Given the description of an element on the screen output the (x, y) to click on. 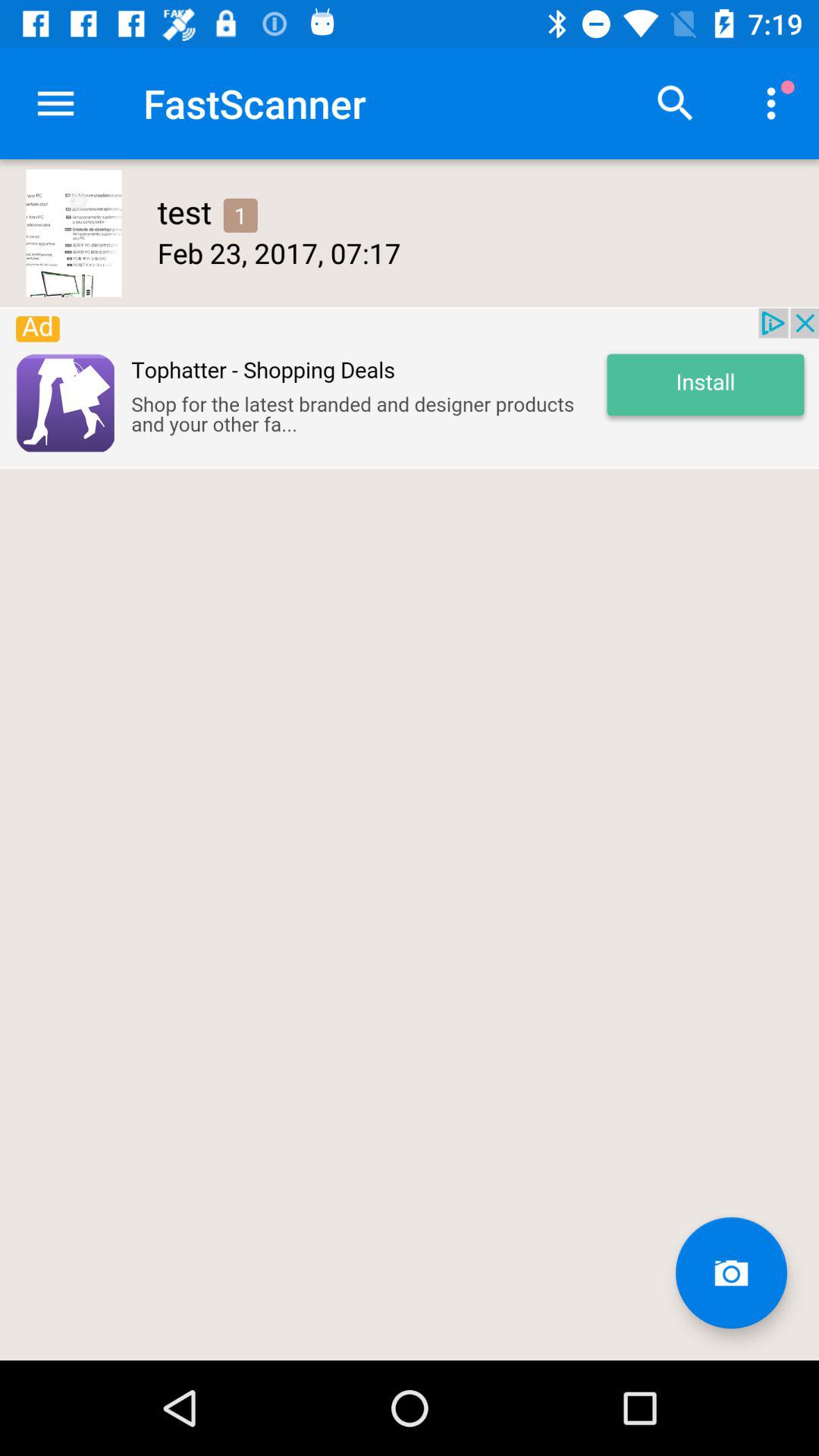
advertising (409, 387)
